Given the description of an element on the screen output the (x, y) to click on. 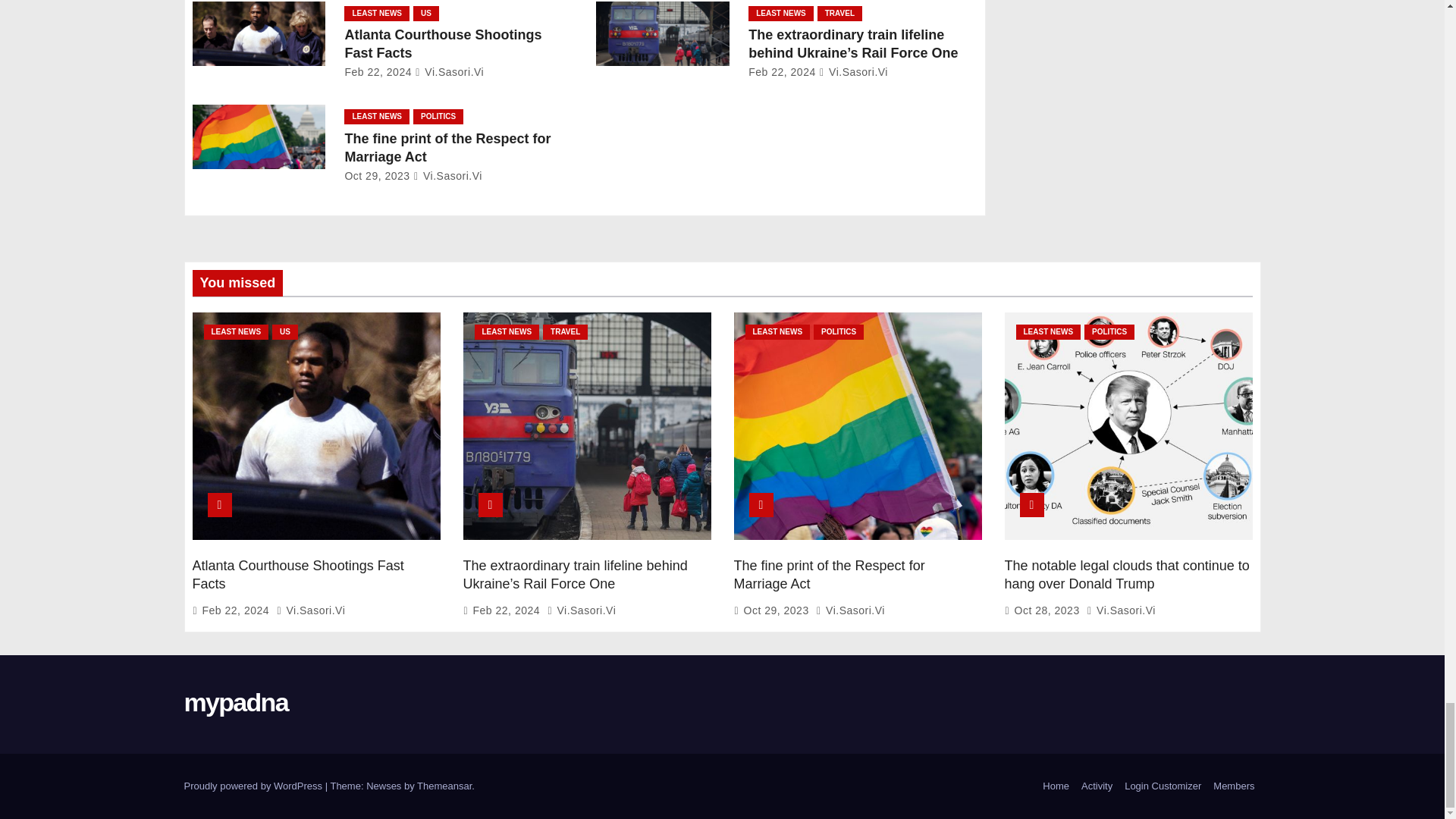
Permalink to: The fine print of the Respect for Marriage Act (446, 147)
Permalink to: Atlanta Courthouse Shootings Fast Facts (298, 574)
Permalink to: The fine print of the Respect for Marriage Act (828, 574)
Permalink to: Atlanta Courthouse Shootings Fast Facts (442, 43)
